Given the description of an element on the screen output the (x, y) to click on. 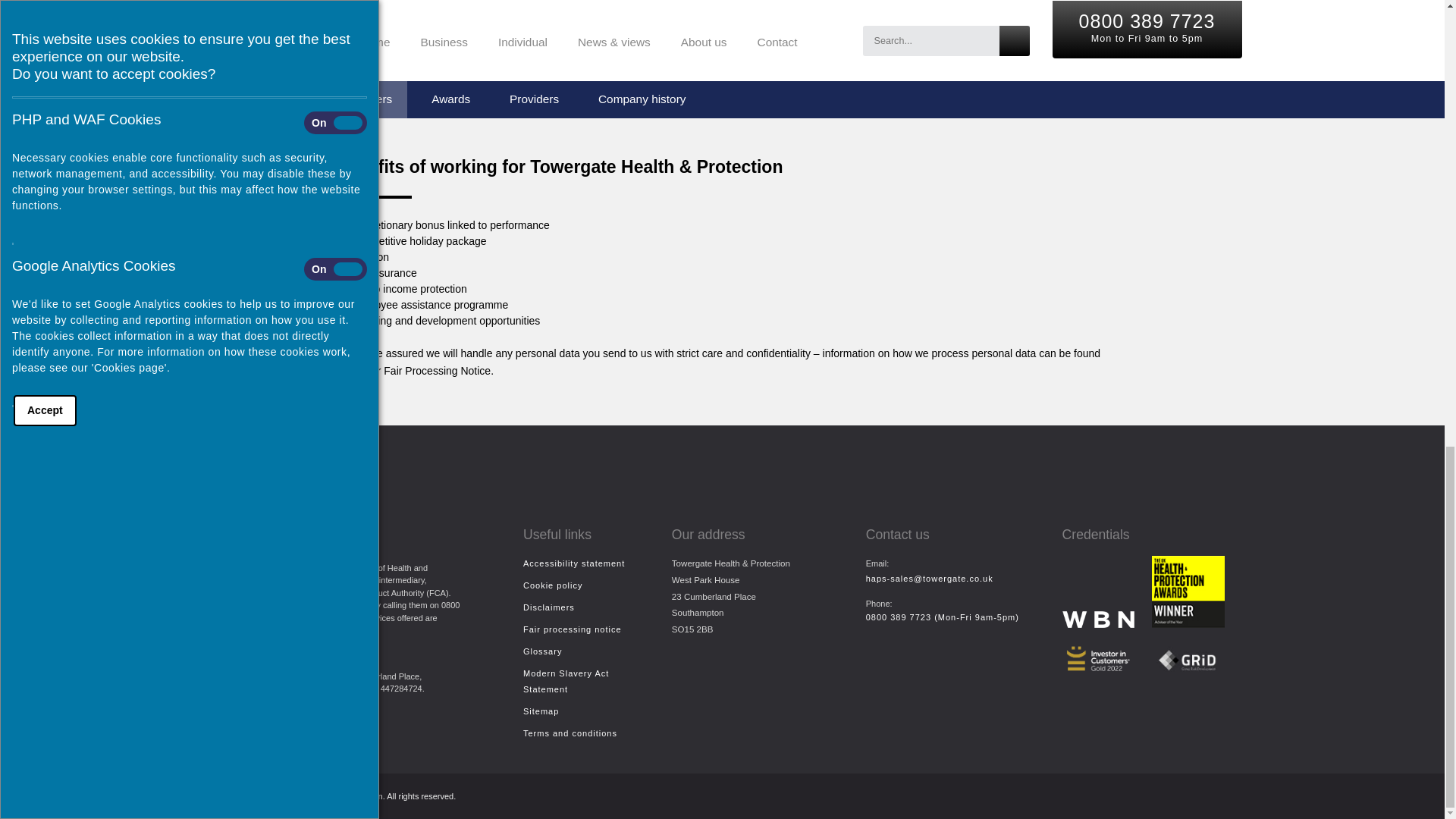
YouTube video player (713, 13)
Call us today (942, 616)
Email us today (929, 578)
